Given the description of an element on the screen output the (x, y) to click on. 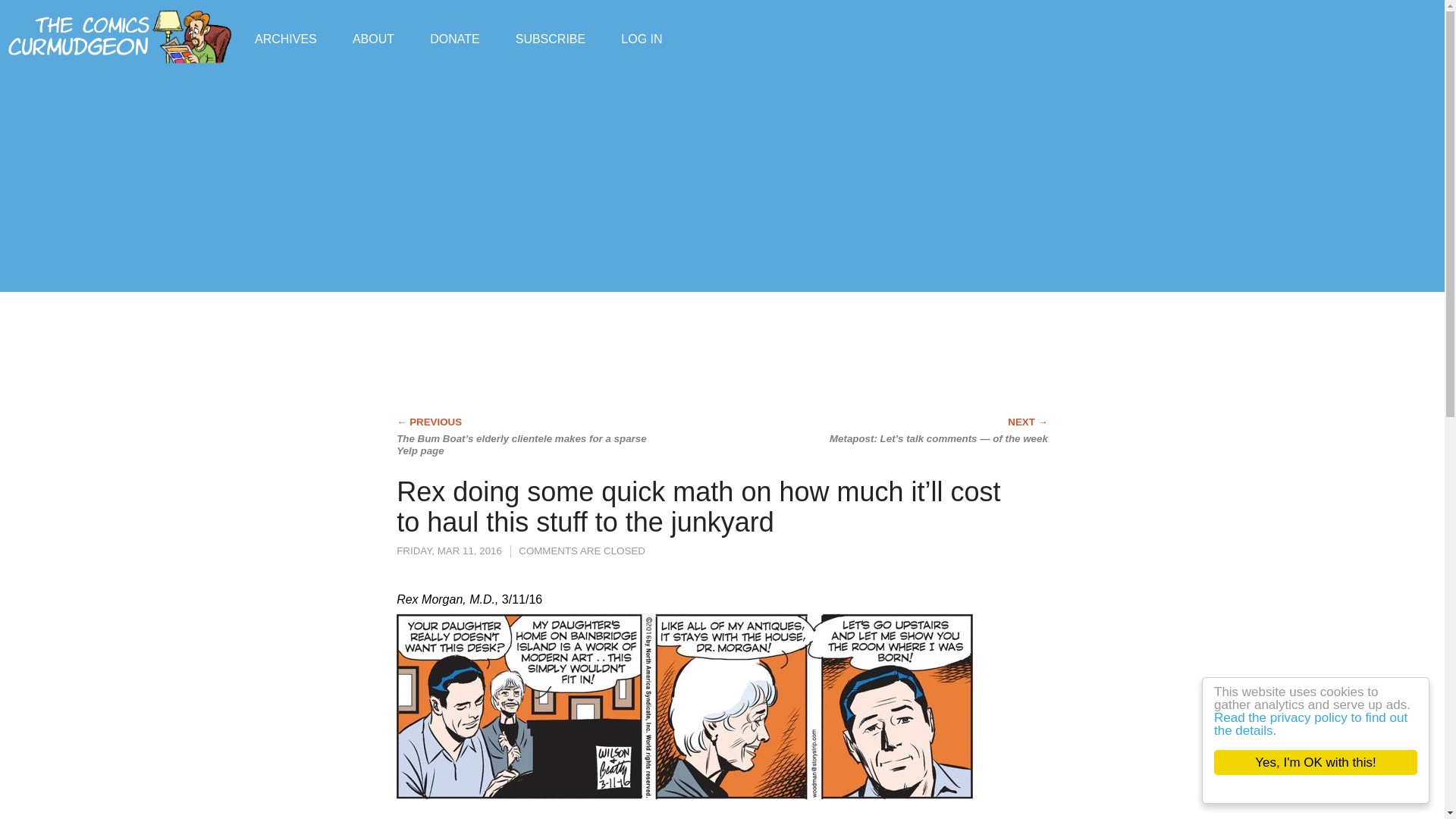
DONATE (454, 38)
Yes, I'm OK with this! (1329, 762)
ABOUT (373, 38)
Read the privacy policy to find out the details. (1325, 723)
LOG IN (641, 38)
SUBSCRIBE (550, 38)
ARCHIVES (285, 38)
